Given the description of an element on the screen output the (x, y) to click on. 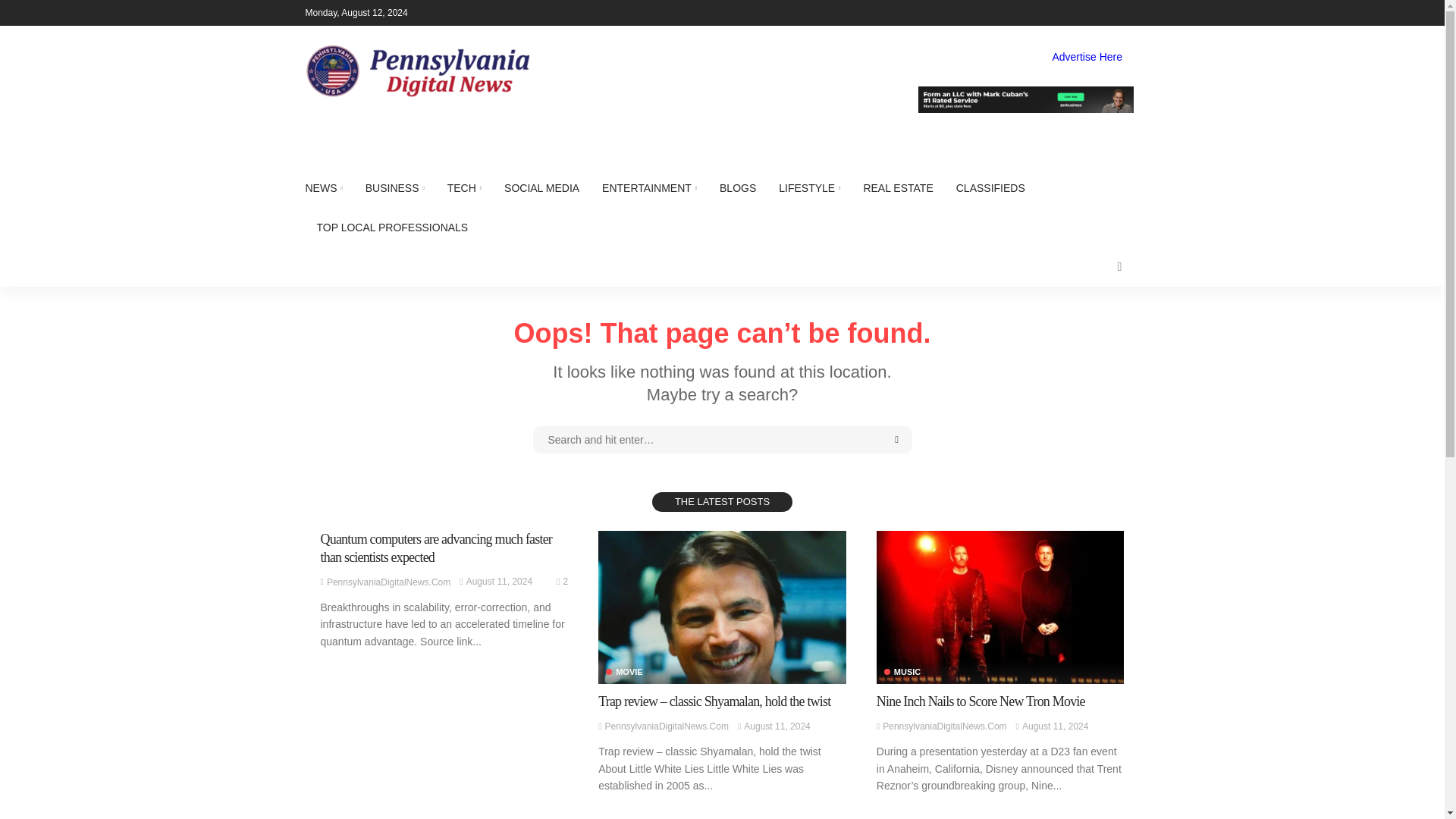
search for: (721, 439)
Nine Inch Nails to Score New Tron Movie (1000, 606)
MUSIC (901, 672)
Nine Inch Nails to Score New Tron Movie (980, 701)
search (1118, 266)
MOVIE (623, 672)
